Given the description of an element on the screen output the (x, y) to click on. 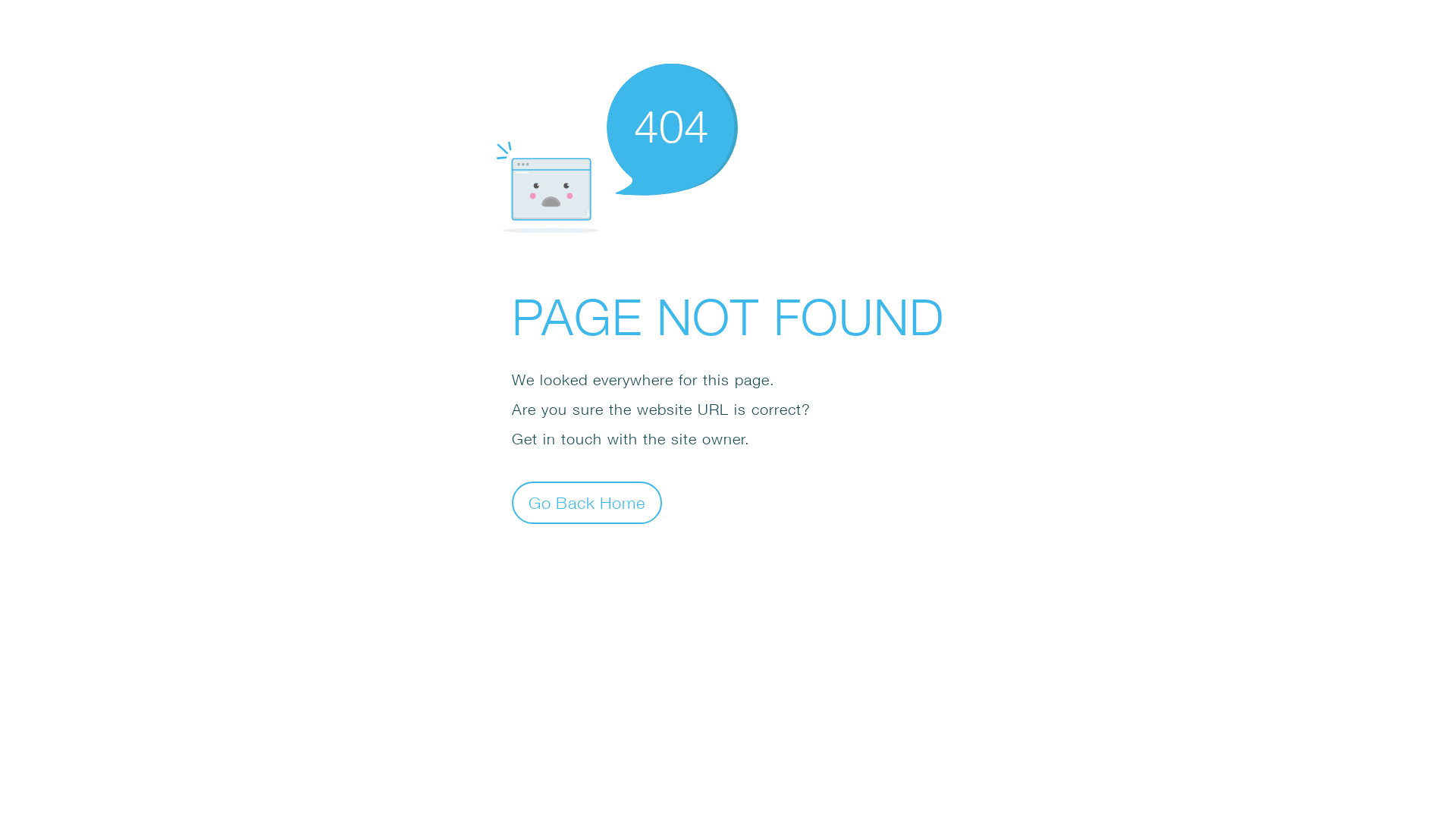
Go Back Home Element type: text (586, 502)
